Given the description of an element on the screen output the (x, y) to click on. 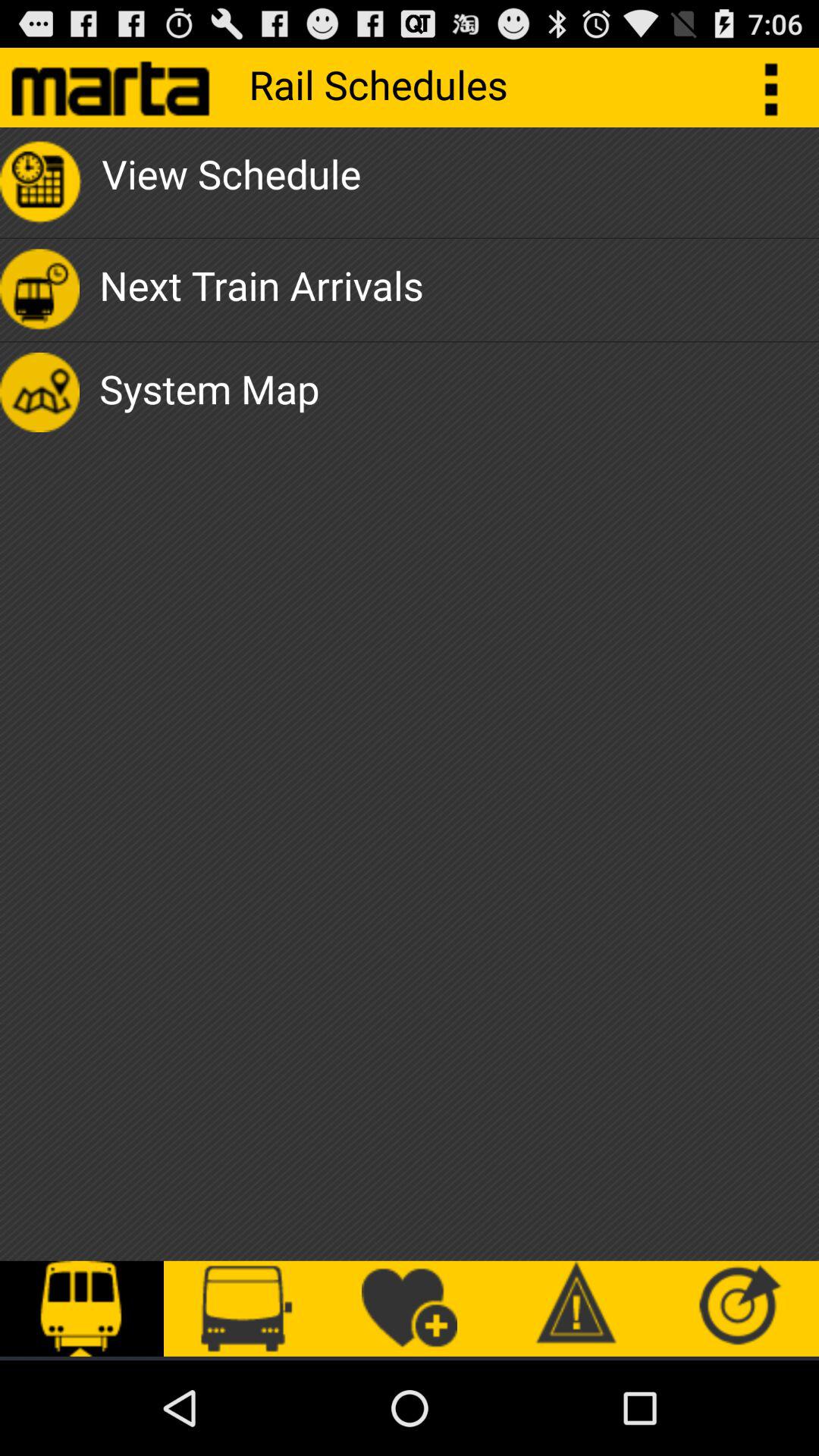
open the item above the next train arrivals app (231, 182)
